Given the description of an element on the screen output the (x, y) to click on. 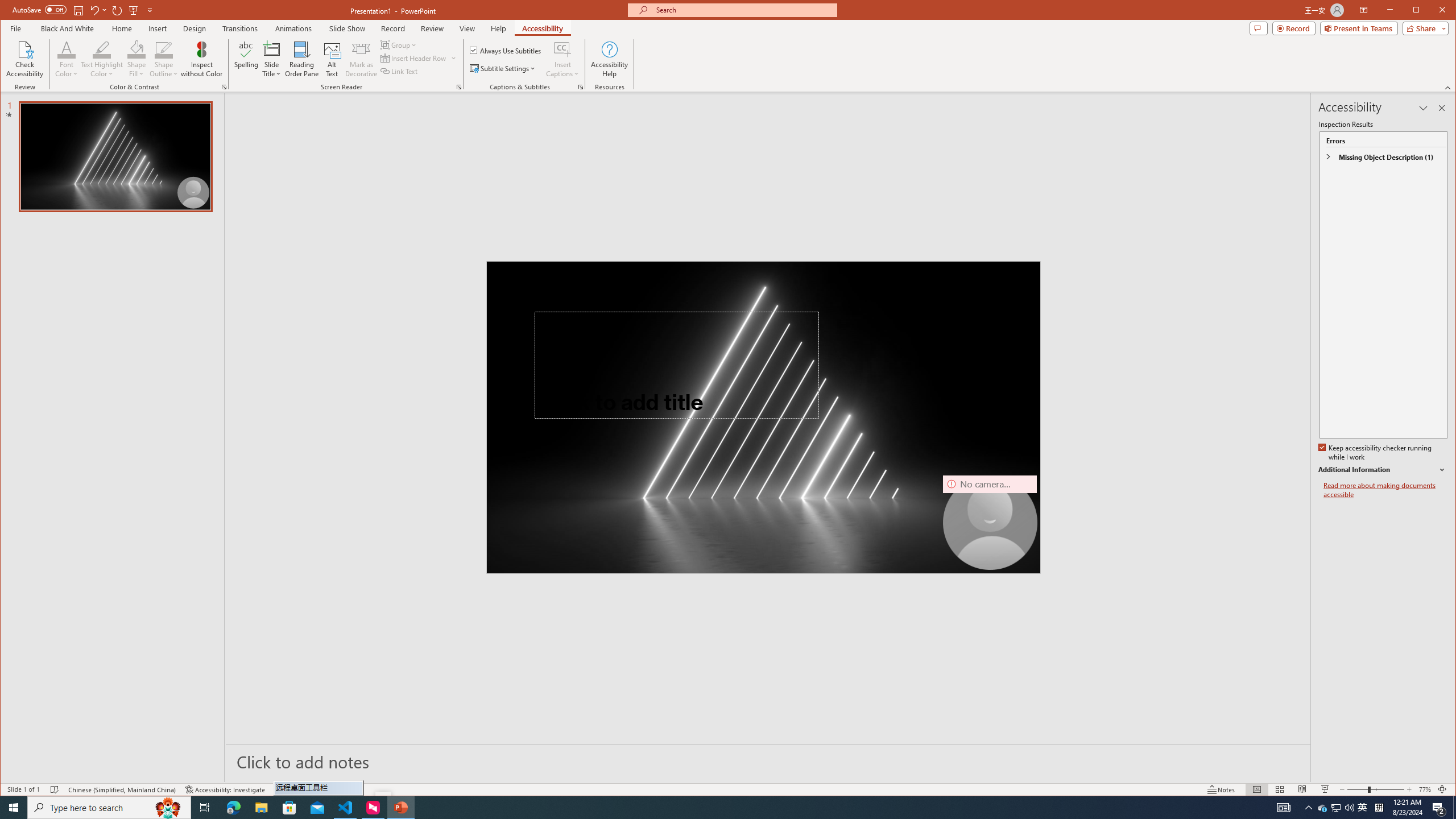
Captions & Subtitles (580, 86)
Zoom 77% (1424, 789)
Camera 7, No camera detected. (990, 522)
